Given the description of an element on the screen output the (x, y) to click on. 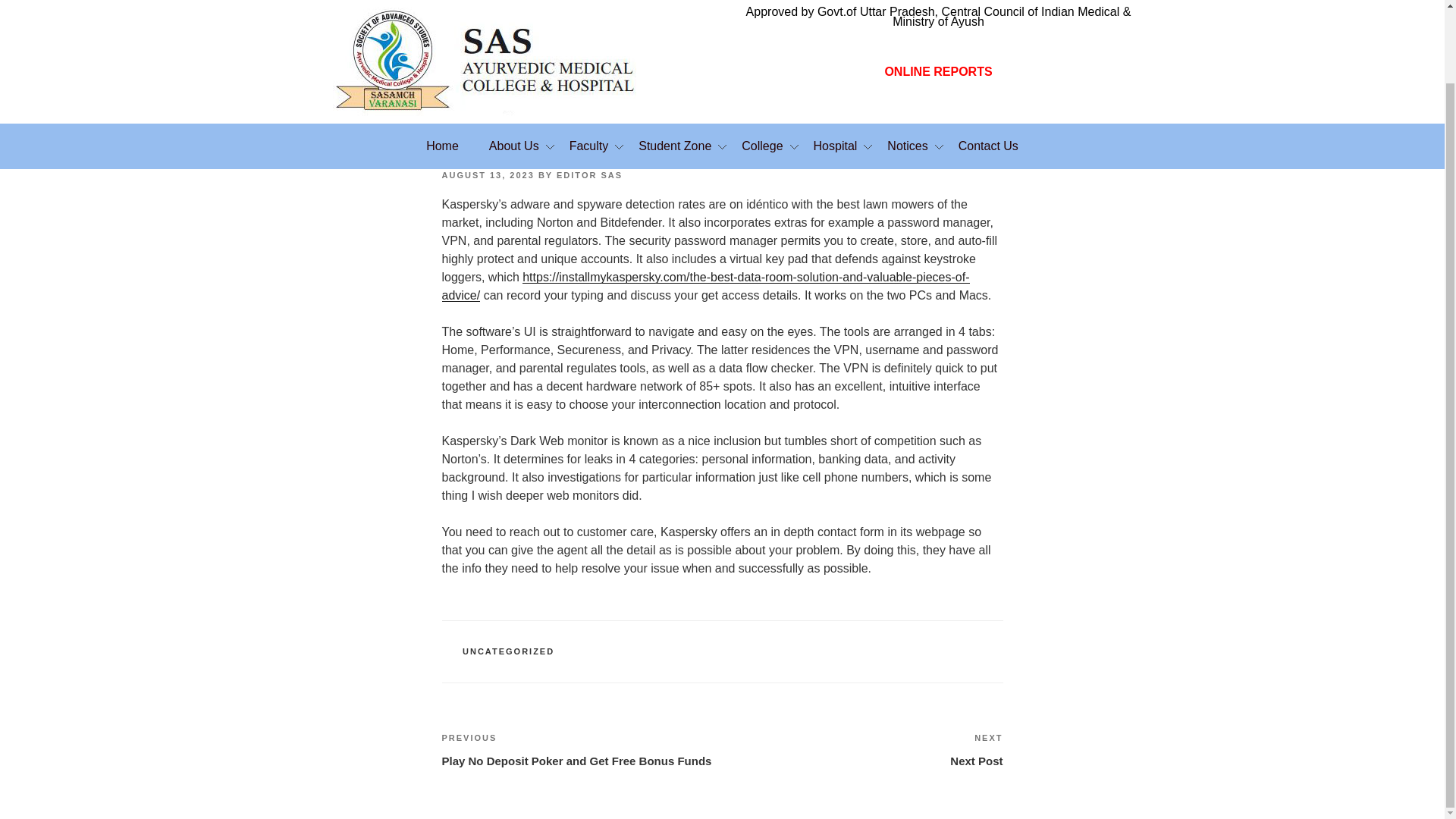
Home (442, 146)
About Us (514, 146)
Student Zone (674, 146)
Faculty (589, 146)
ONLINE REPORTS (937, 71)
